Given the description of an element on the screen output the (x, y) to click on. 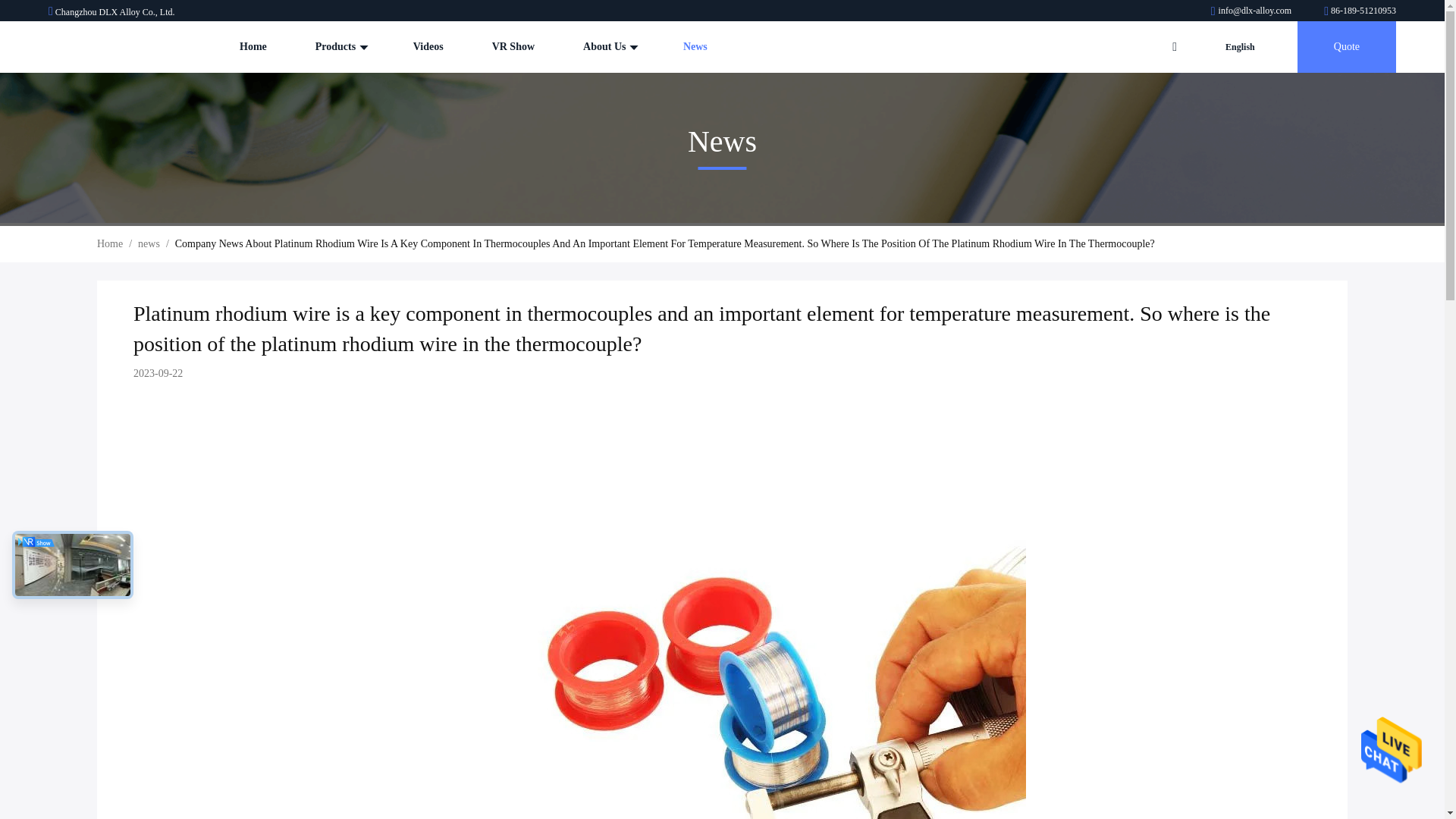
Changzhou DLX Alloy Co., Ltd. (1252, 9)
Changzhou DLX Alloy Co., Ltd. (1359, 9)
86-189-51210953 (1359, 9)
Products (340, 46)
Changzhou DLX Alloy Co., Ltd. (96, 46)
About Us (608, 46)
Products (340, 46)
